Given the description of an element on the screen output the (x, y) to click on. 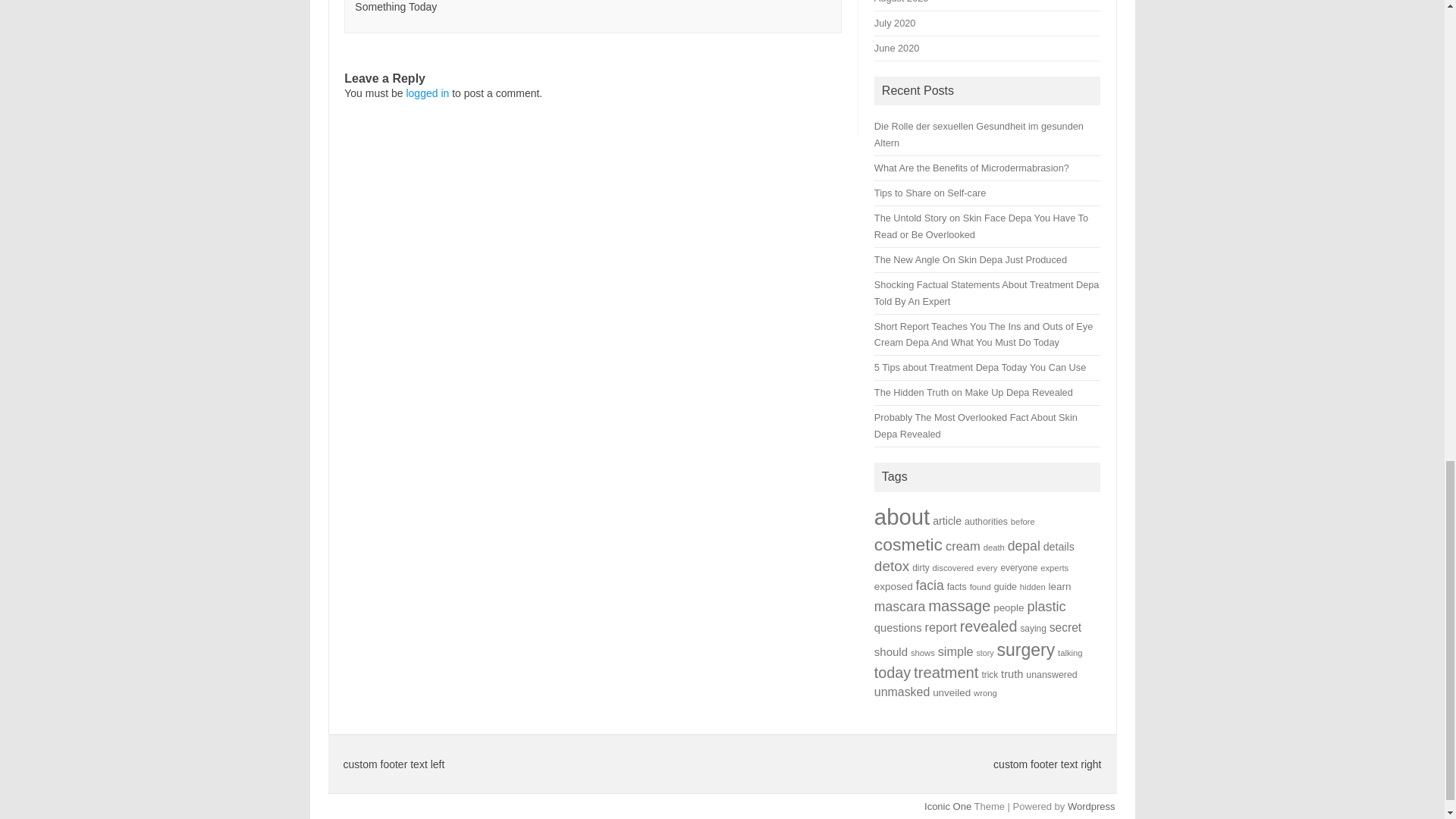
logged in (427, 92)
